Given the description of an element on the screen output the (x, y) to click on. 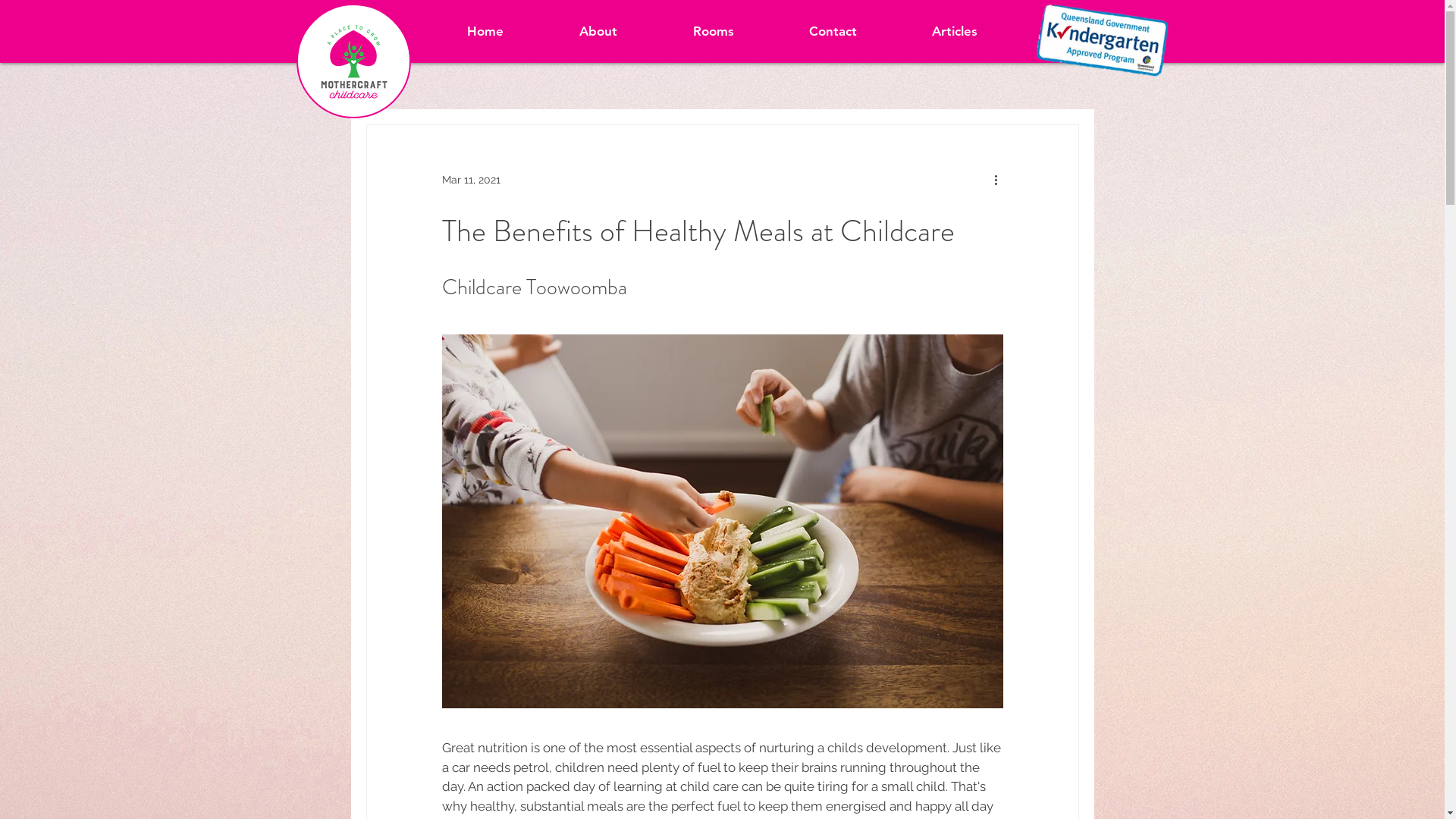
Home Element type: text (485, 31)
Contact Element type: text (832, 31)
About Element type: text (598, 31)
Rooms Element type: text (713, 31)
Articles Element type: text (954, 31)
